Given the description of an element on the screen output the (x, y) to click on. 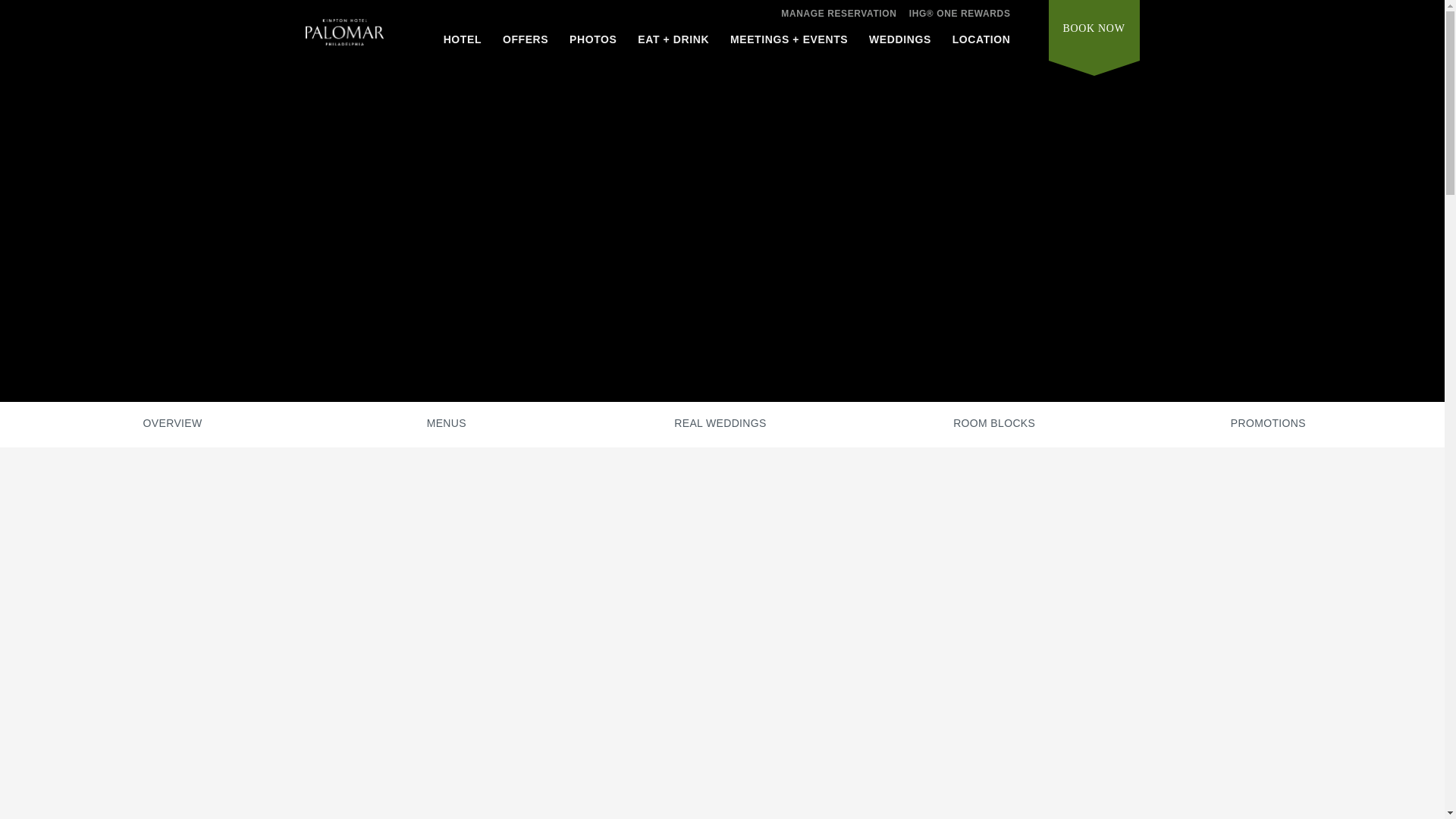
PHOTOS (592, 43)
HOTEL (462, 43)
OFFERS (525, 43)
Home (343, 41)
